Given the description of an element on the screen output the (x, y) to click on. 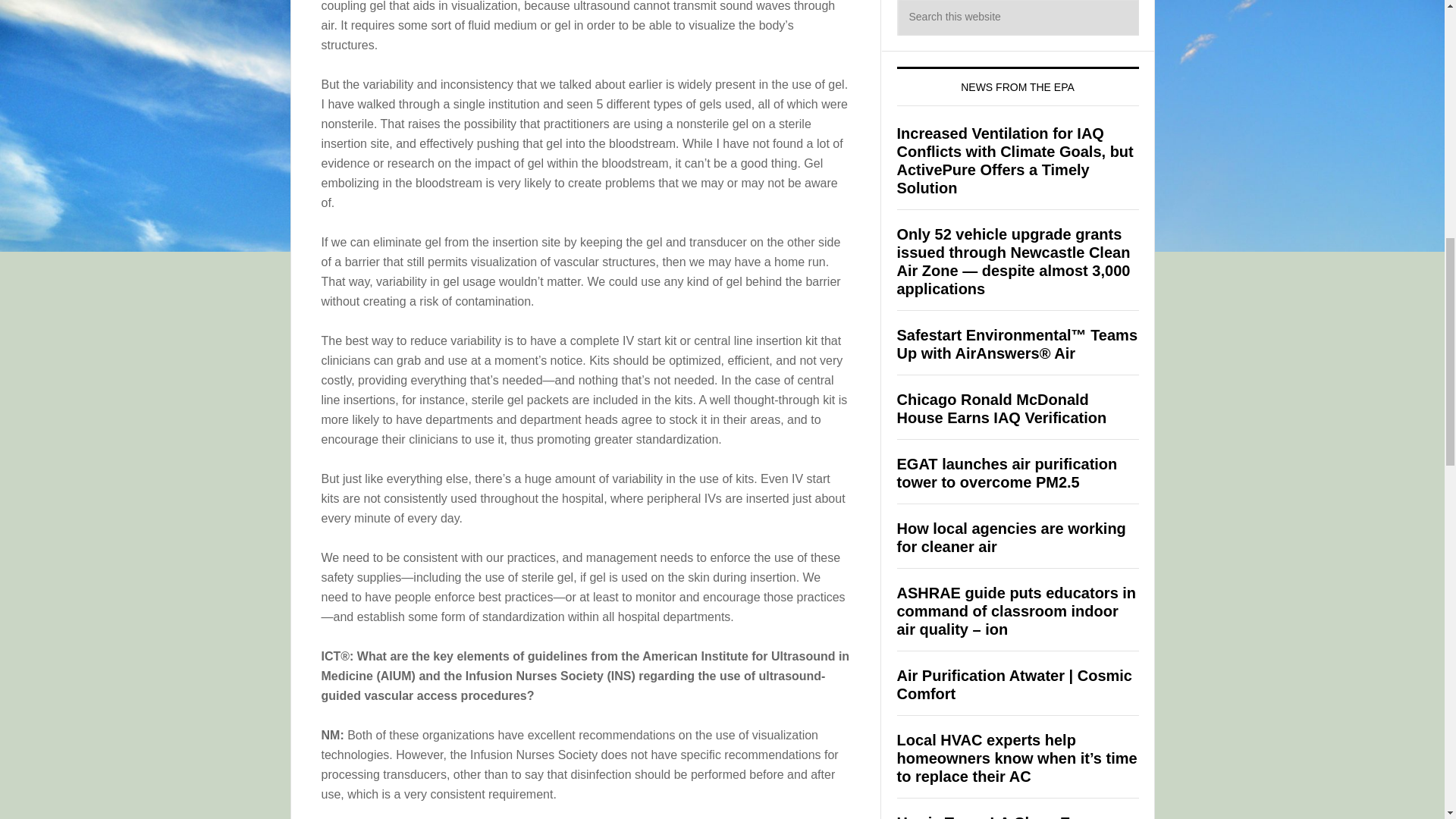
How local agencies are working for cleaner air (1010, 537)
Chicago Ronald McDonald House Earns IAQ Verification (1001, 408)
EGAT launches air purification tower to overcome PM2.5 (1006, 472)
